Given the description of an element on the screen output the (x, y) to click on. 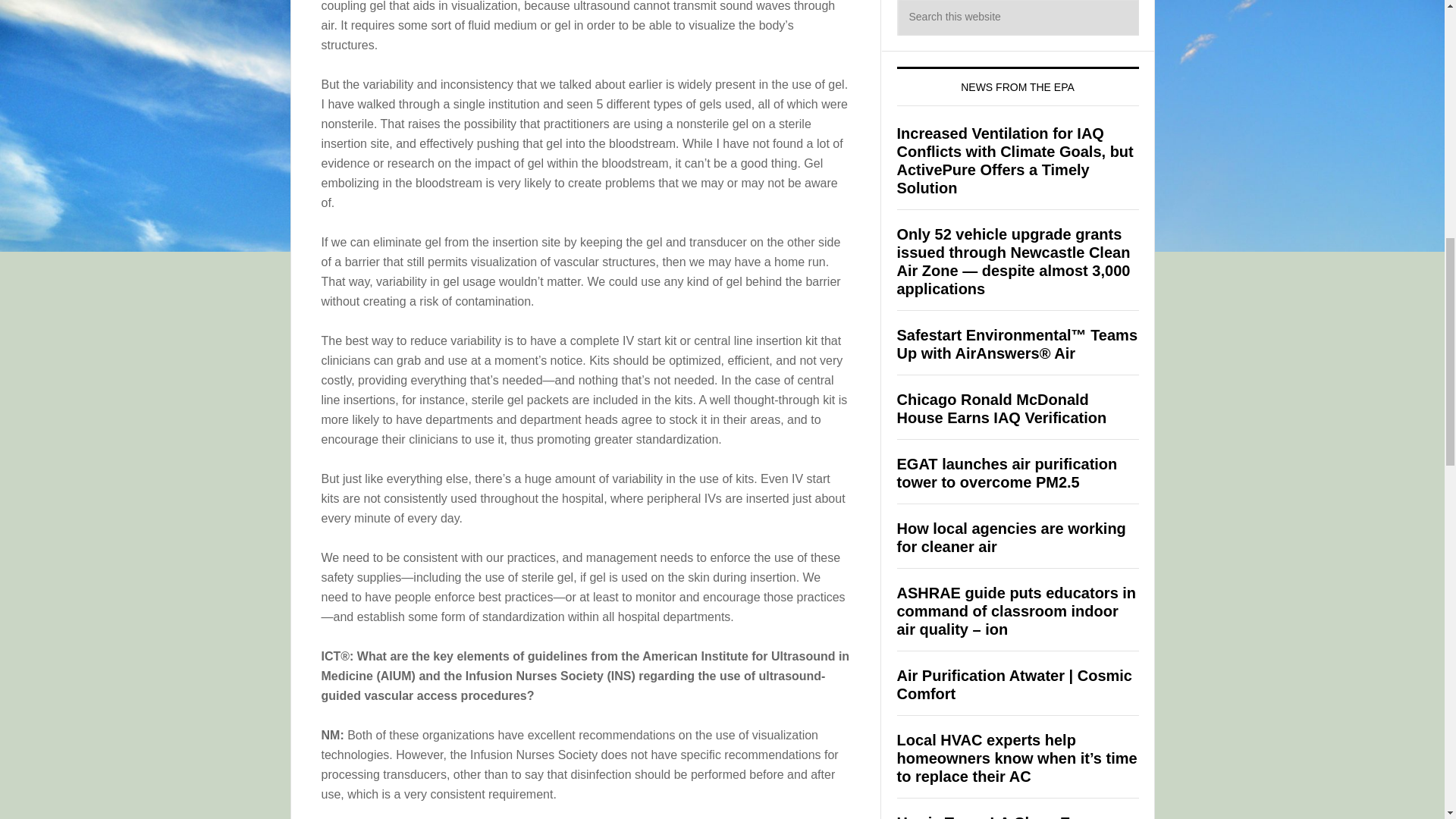
How local agencies are working for cleaner air (1010, 537)
Chicago Ronald McDonald House Earns IAQ Verification (1001, 408)
EGAT launches air purification tower to overcome PM2.5 (1006, 472)
